Given the description of an element on the screen output the (x, y) to click on. 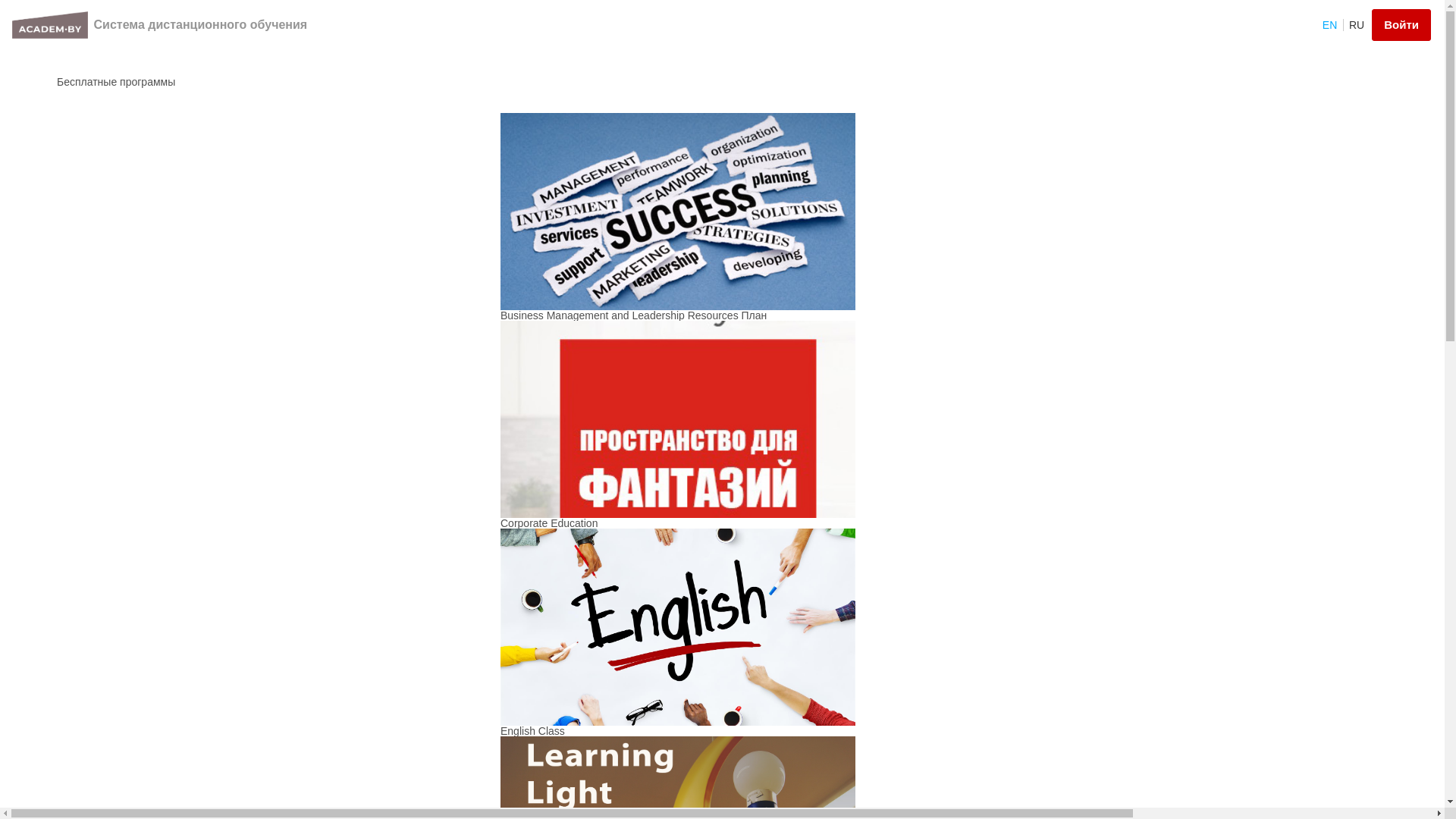
EN Element type: text (1331, 24)
Corporate Education Element type: text (548, 523)
English Class Element type: text (532, 730)
